Given the description of an element on the screen output the (x, y) to click on. 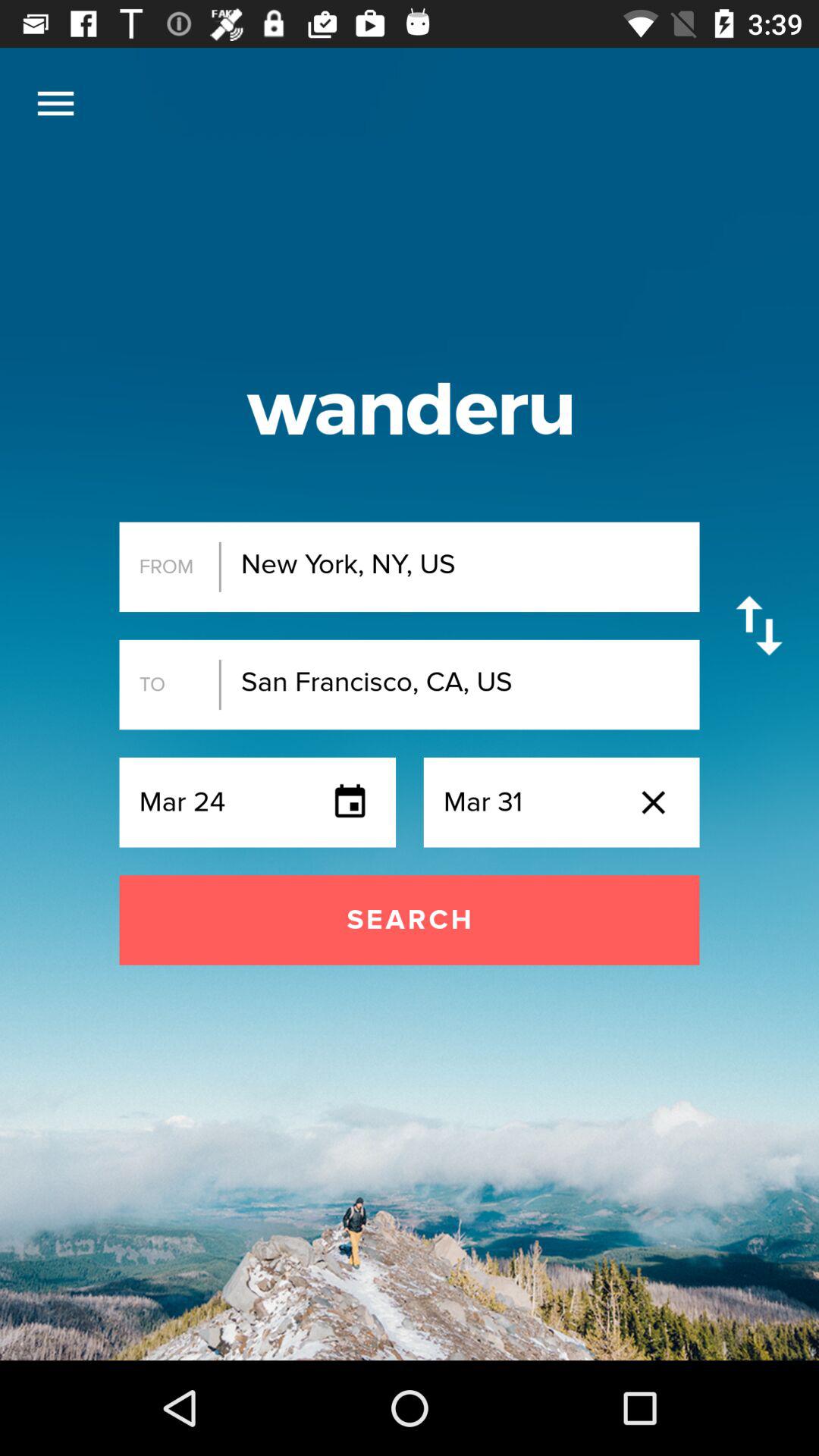
click on calendar icon (349, 802)
